Given the description of an element on the screen output the (x, y) to click on. 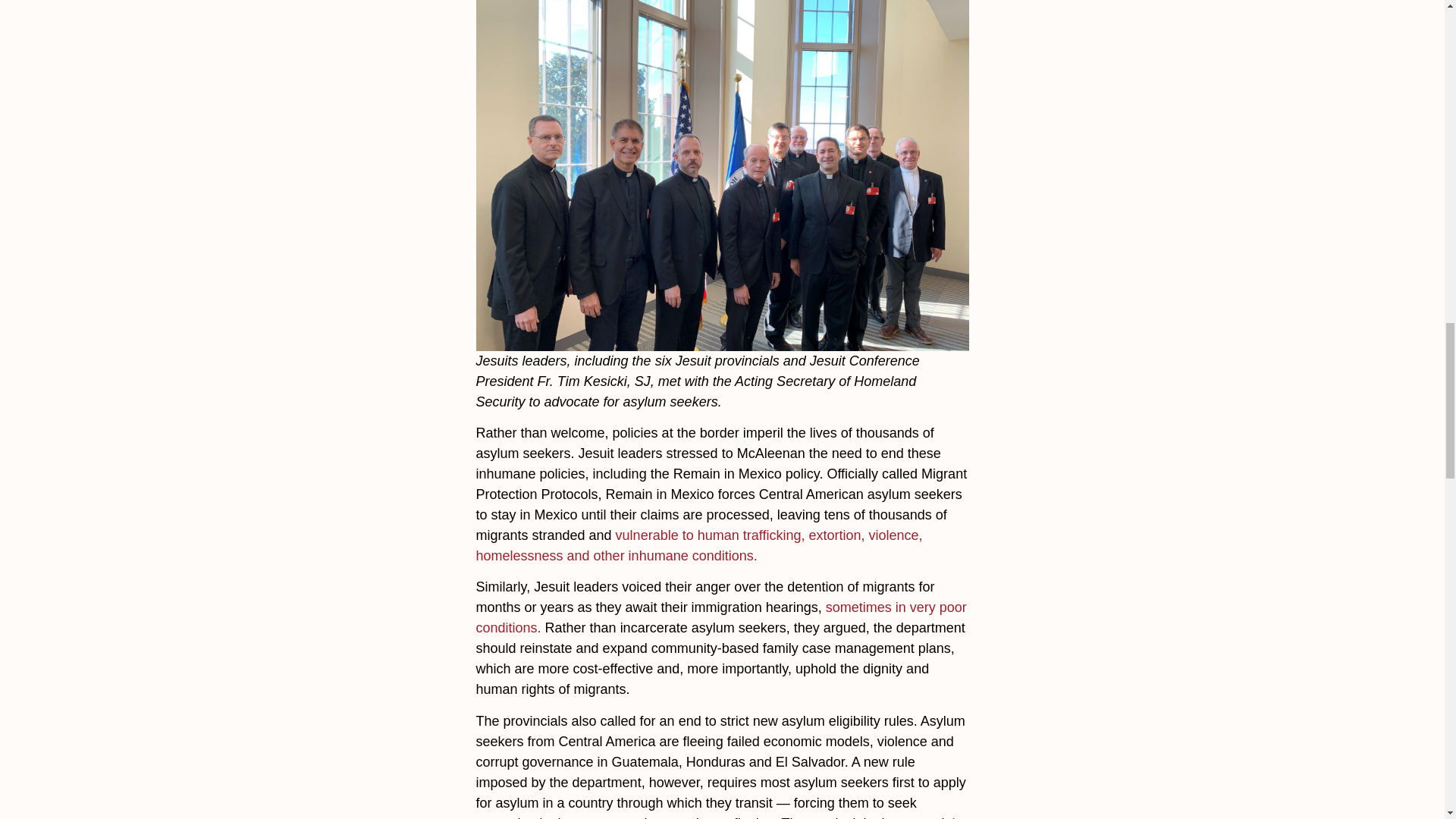
sometimes in very poor conditions. (721, 617)
